Given the description of an element on the screen output the (x, y) to click on. 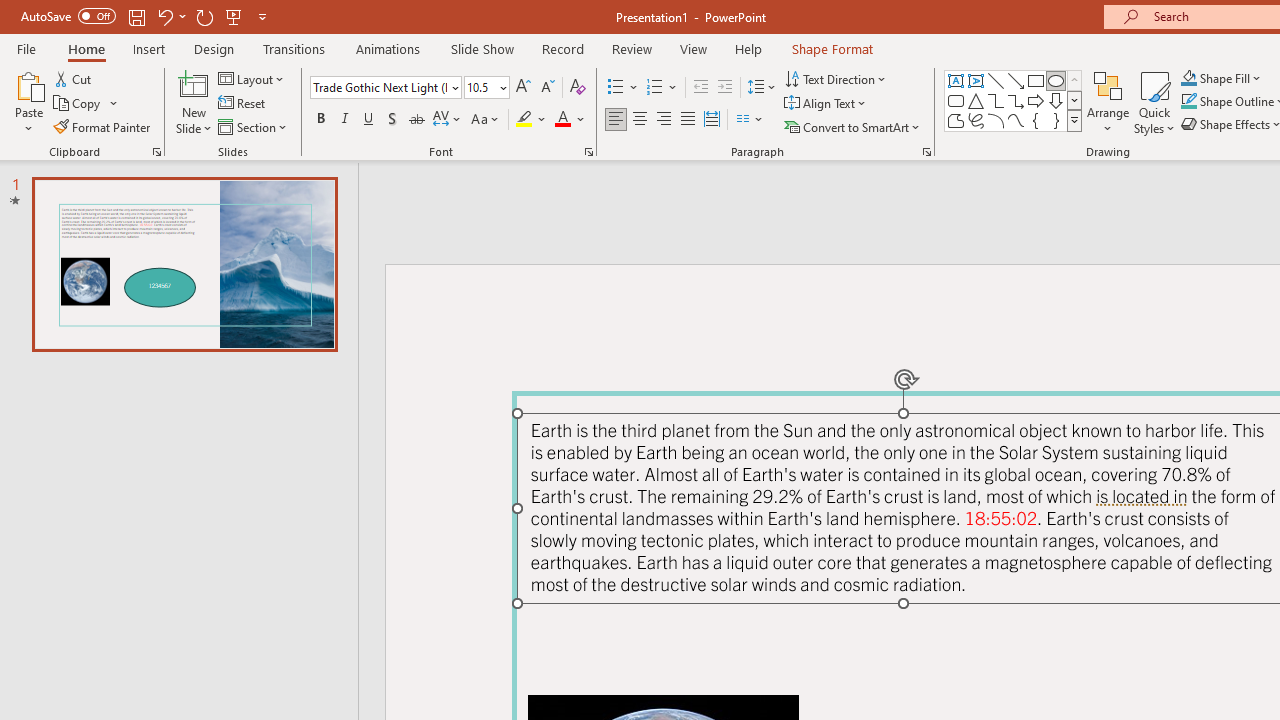
Shape Outline Teal, Accent 1 (1188, 101)
